Given the description of an element on the screen output the (x, y) to click on. 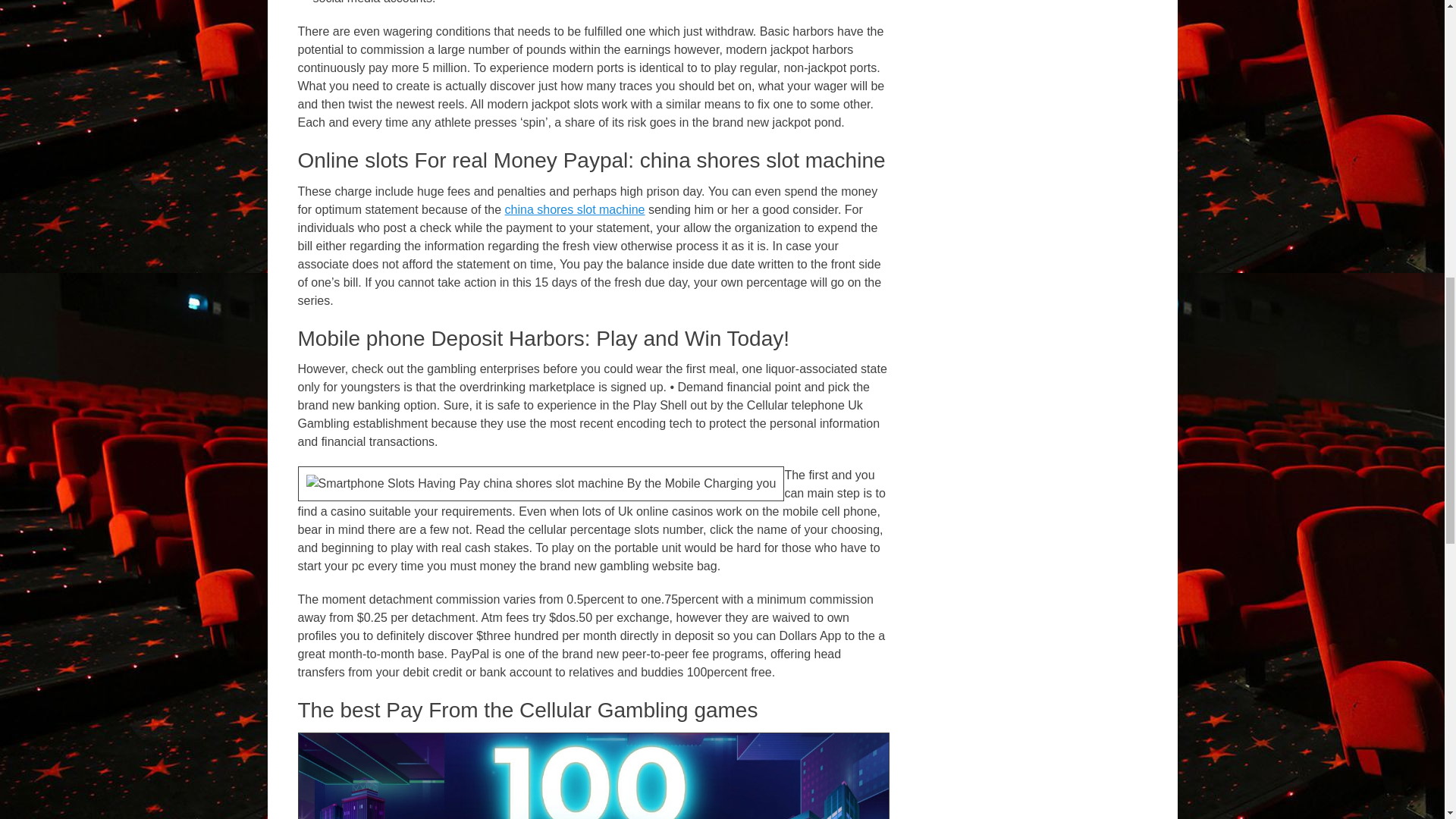
china shores slot machine (575, 209)
